Given the description of an element on the screen output the (x, y) to click on. 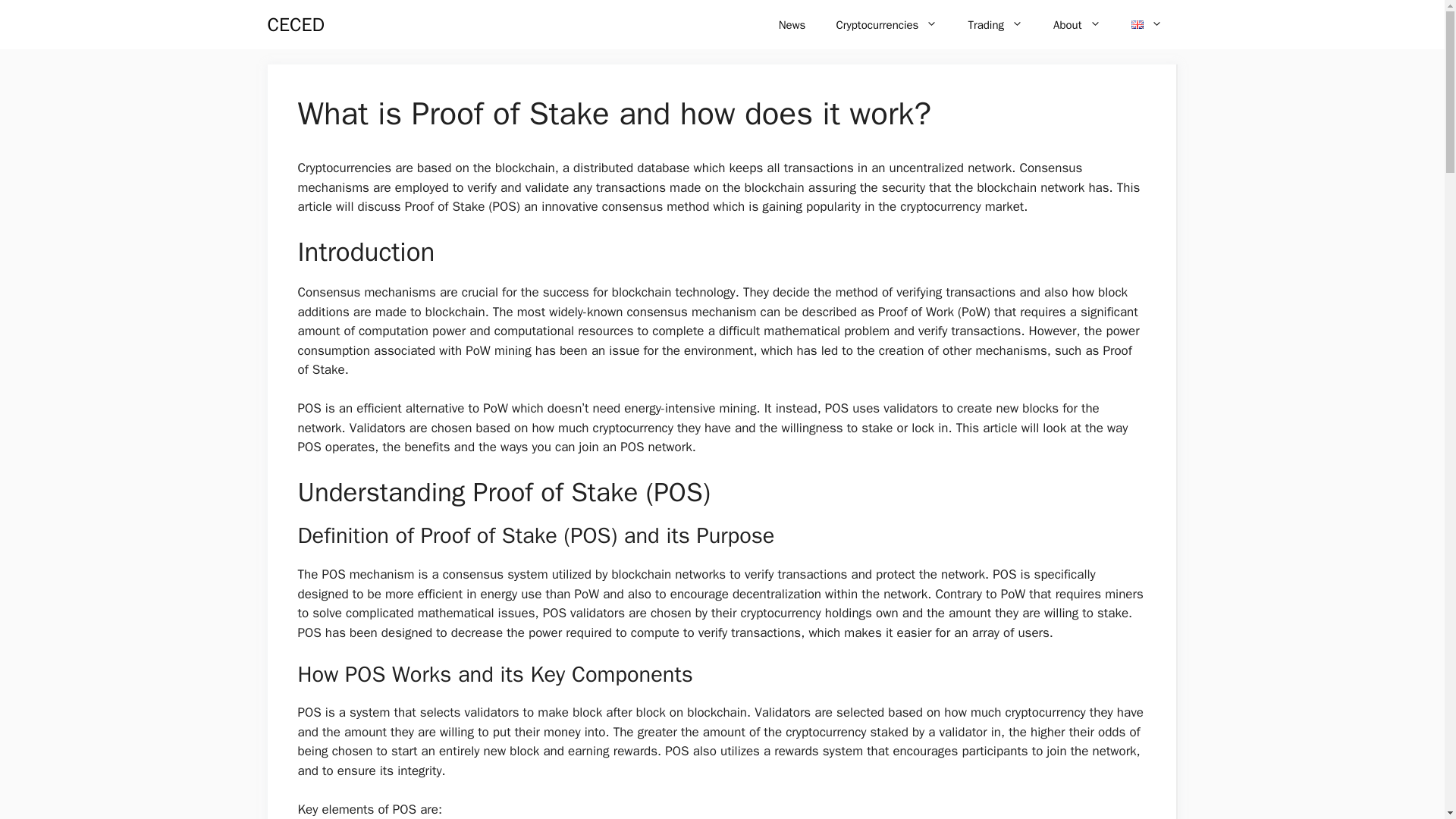
News (791, 23)
Cryptocurrencies (886, 23)
CECED (294, 24)
Trading (995, 23)
